Given the description of an element on the screen output the (x, y) to click on. 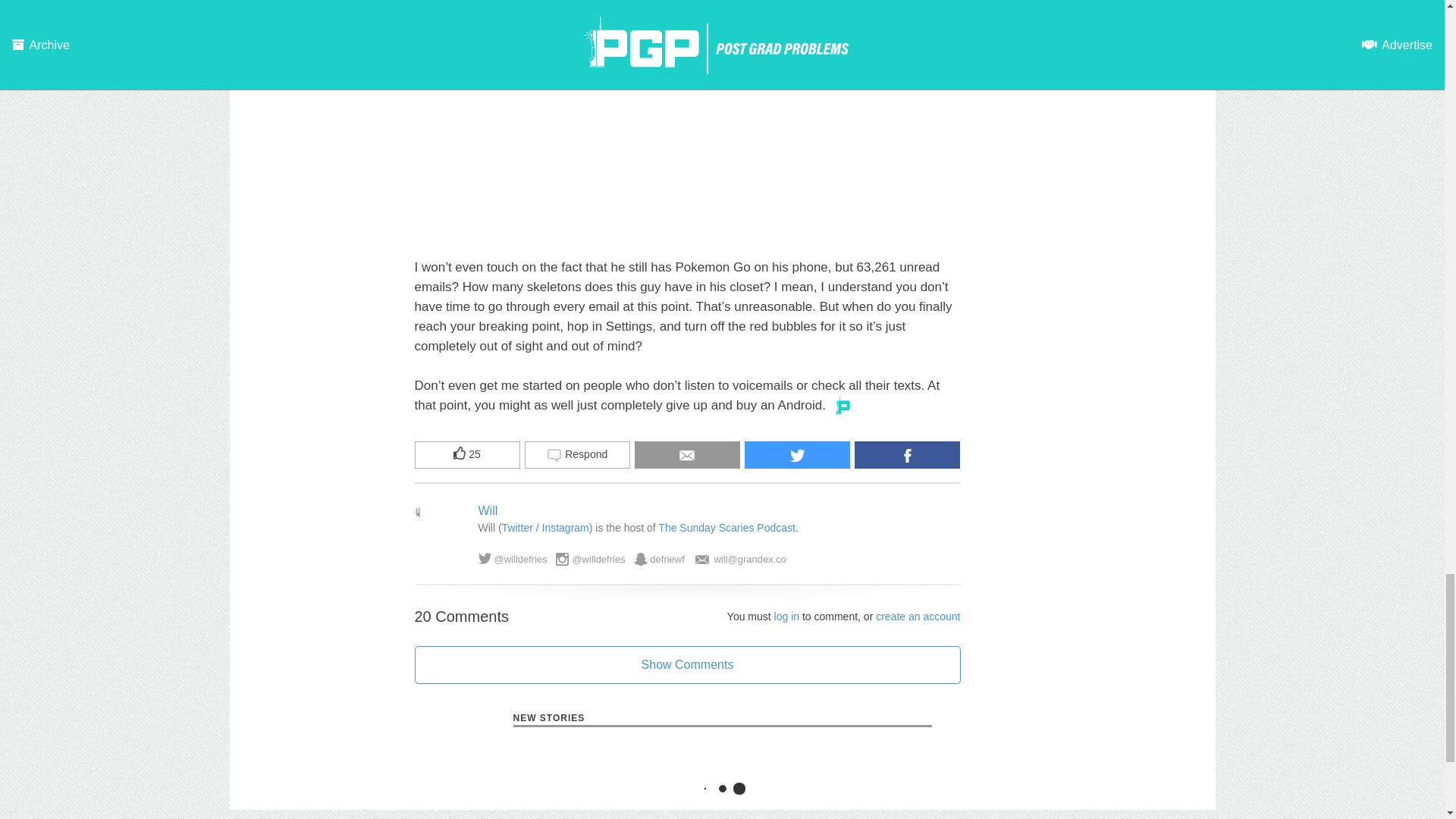
log in (786, 616)
Twitter (517, 527)
The Sunday Scaries Podcast (726, 527)
25 (466, 454)
create an account (917, 616)
Instagram (565, 527)
NEW STORIES (721, 718)
Create an Account (917, 616)
Login (786, 616)
Respond (577, 454)
Will (487, 510)
defriewf (666, 559)
